Given the description of an element on the screen output the (x, y) to click on. 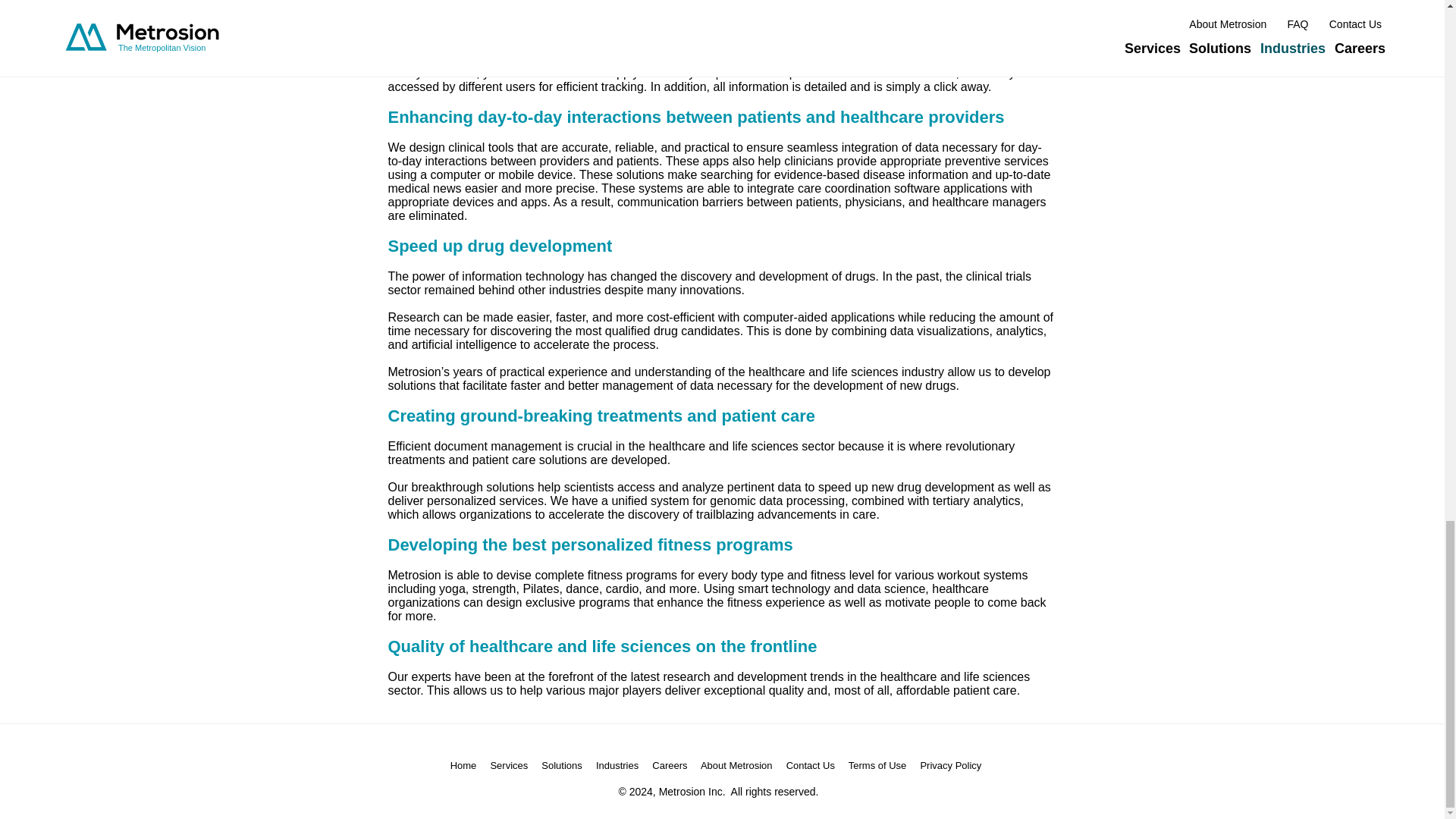
Services (508, 765)
Home (463, 765)
